Given the description of an element on the screen output the (x, y) to click on. 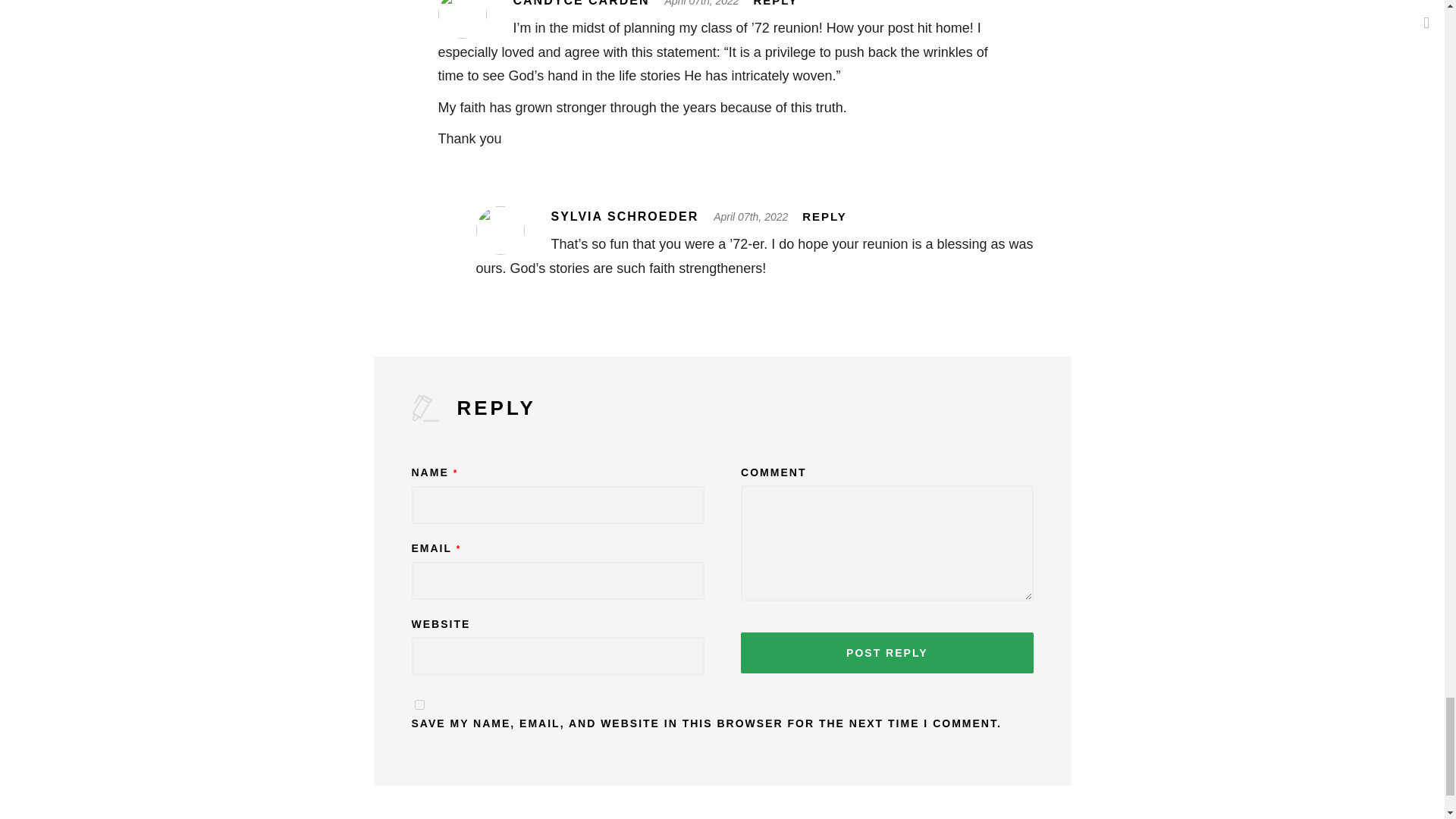
yes (418, 705)
Post Reply (886, 652)
